Given the description of an element on the screen output the (x, y) to click on. 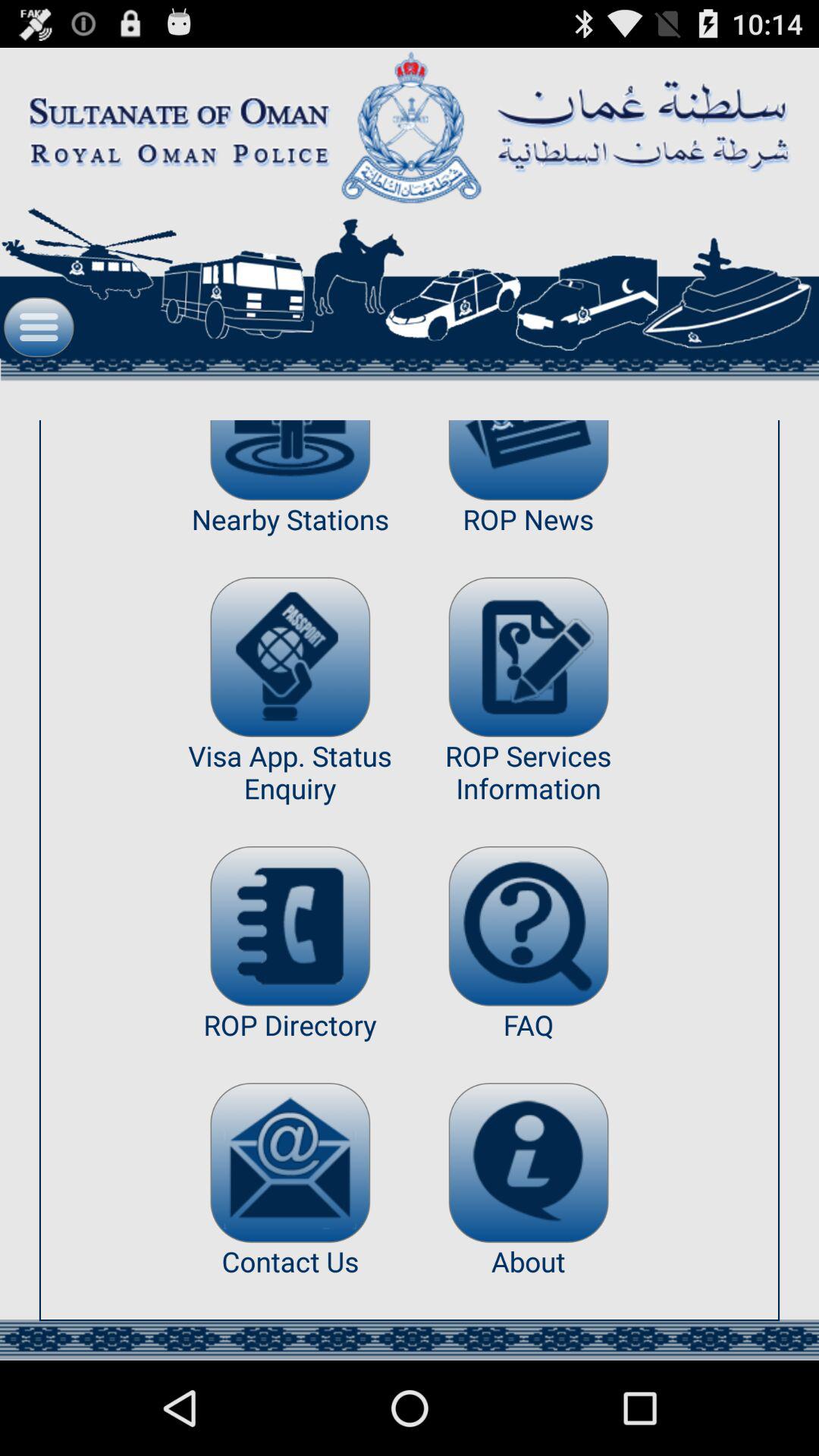
see directory (290, 926)
